Given the description of an element on the screen output the (x, y) to click on. 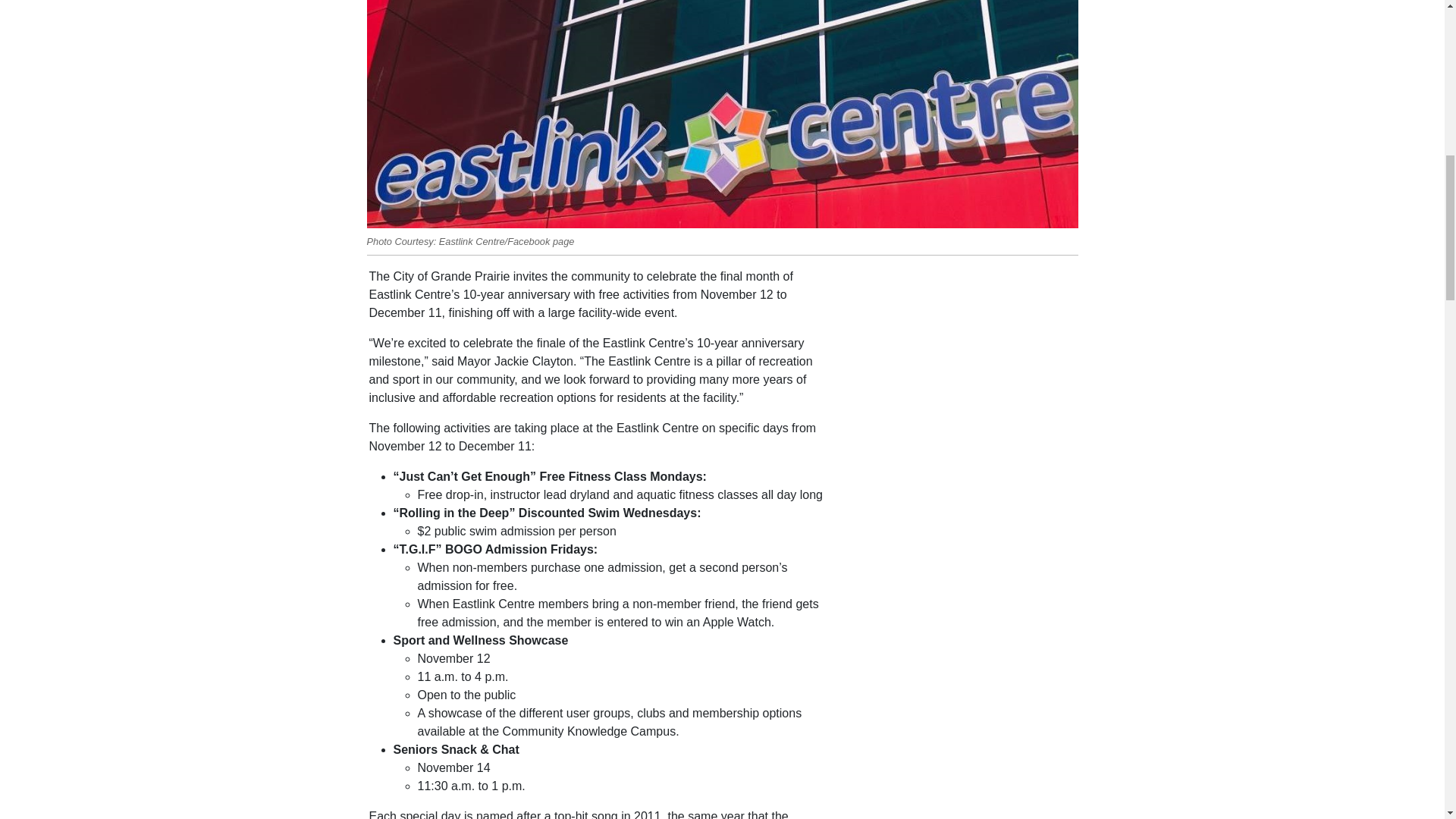
3rd party ad content (961, 362)
3rd party ad content (961, 707)
